Given the description of an element on the screen output the (x, y) to click on. 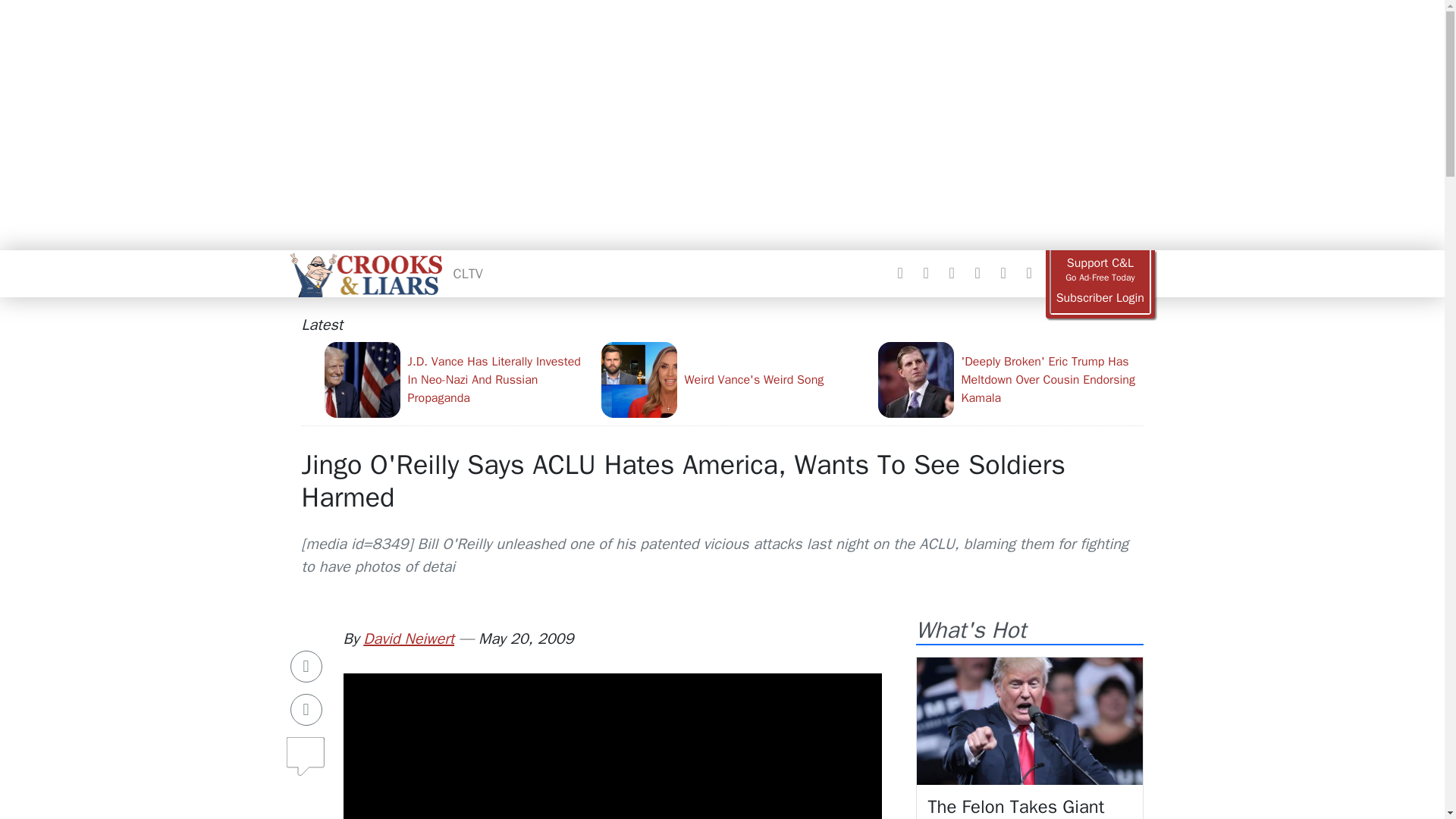
Share on Facebook (306, 666)
David Neiwert (408, 638)
Login to your ad free account (1099, 298)
Go ad free today! (1099, 270)
CLTV (467, 273)
Share on Twitter (306, 709)
Subscriber Login (1099, 298)
David Neiwert (408, 638)
Comments (306, 750)
Weird Vance's Weird Song (732, 379)
